Given the description of an element on the screen output the (x, y) to click on. 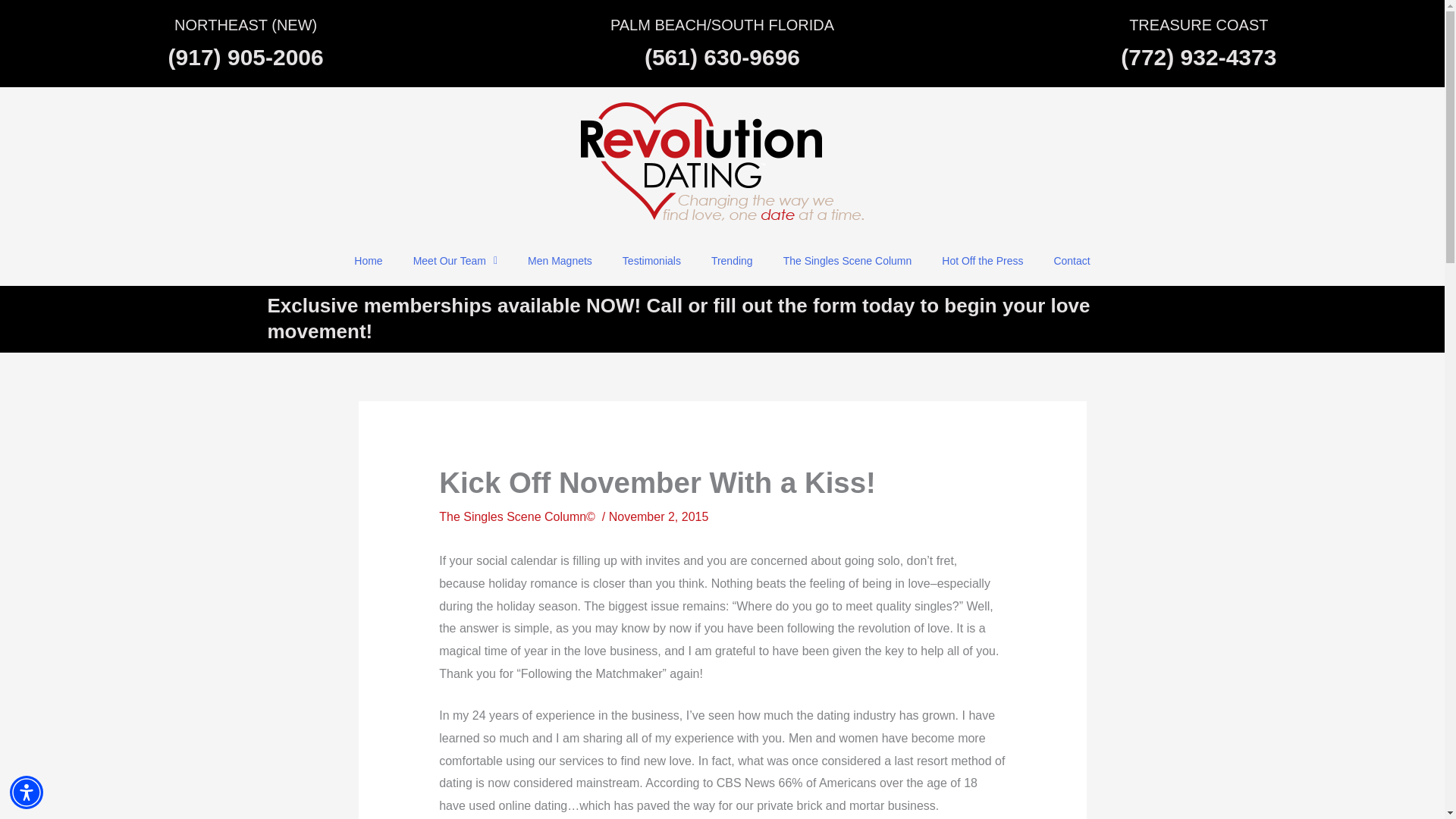
Accessibility Menu (26, 792)
Hot Off the Press (982, 260)
The Singles Scene Column (847, 260)
Home (368, 260)
Men Magnets (559, 260)
Testimonials (651, 260)
Trending (731, 260)
Meet Our Team (454, 260)
Contact (1071, 260)
